Given the description of an element on the screen output the (x, y) to click on. 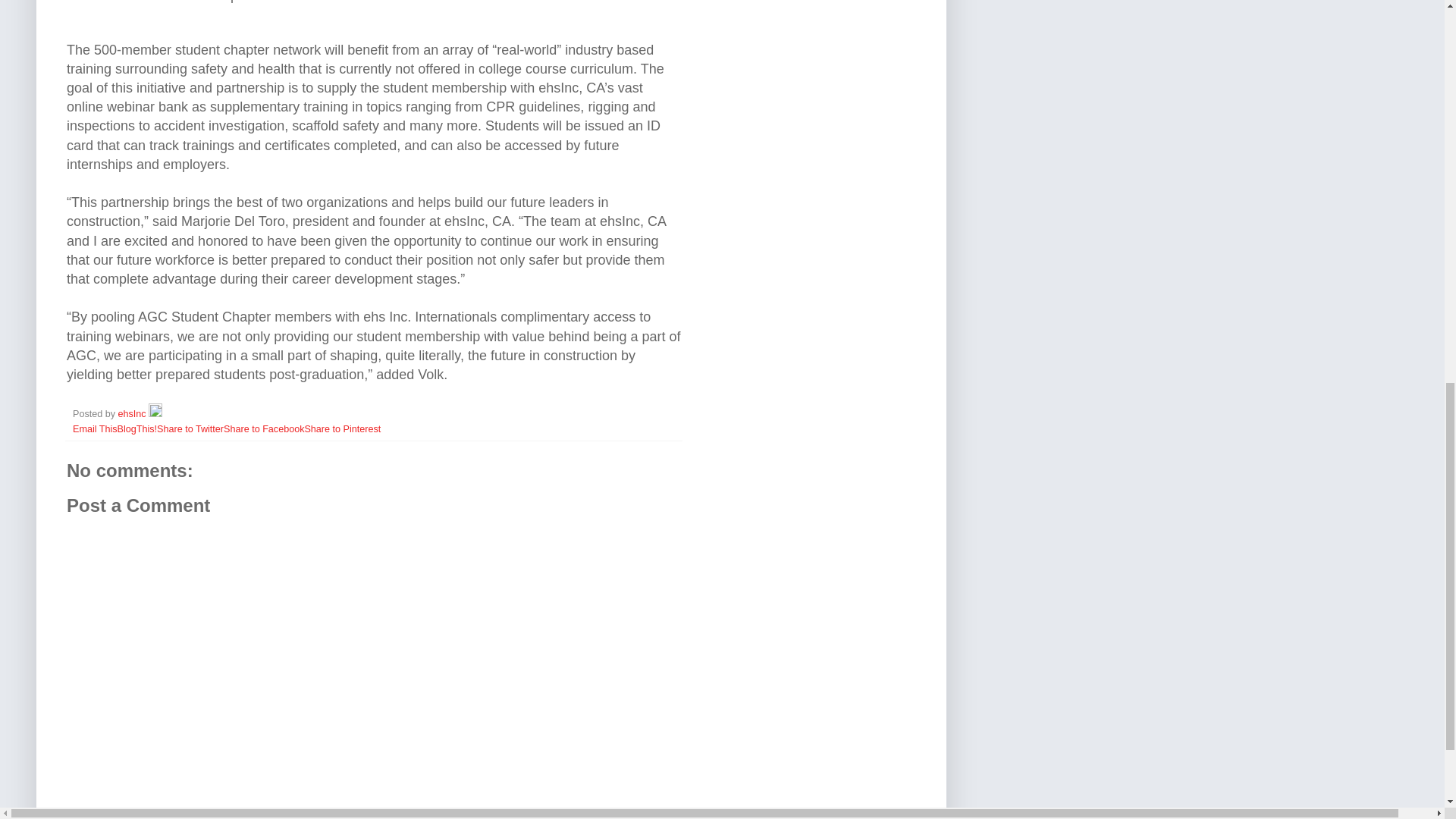
Share to Facebook (264, 429)
Email This (94, 429)
ehsInc (133, 413)
Share to Twitter (190, 429)
author profile (133, 413)
Email This (94, 429)
Share to Twitter (190, 429)
Share to Pinterest (342, 429)
Share to Facebook (264, 429)
BlogThis! (137, 429)
Edit Post (154, 413)
Share to Pinterest (342, 429)
BlogThis! (137, 429)
